Given the description of an element on the screen output the (x, y) to click on. 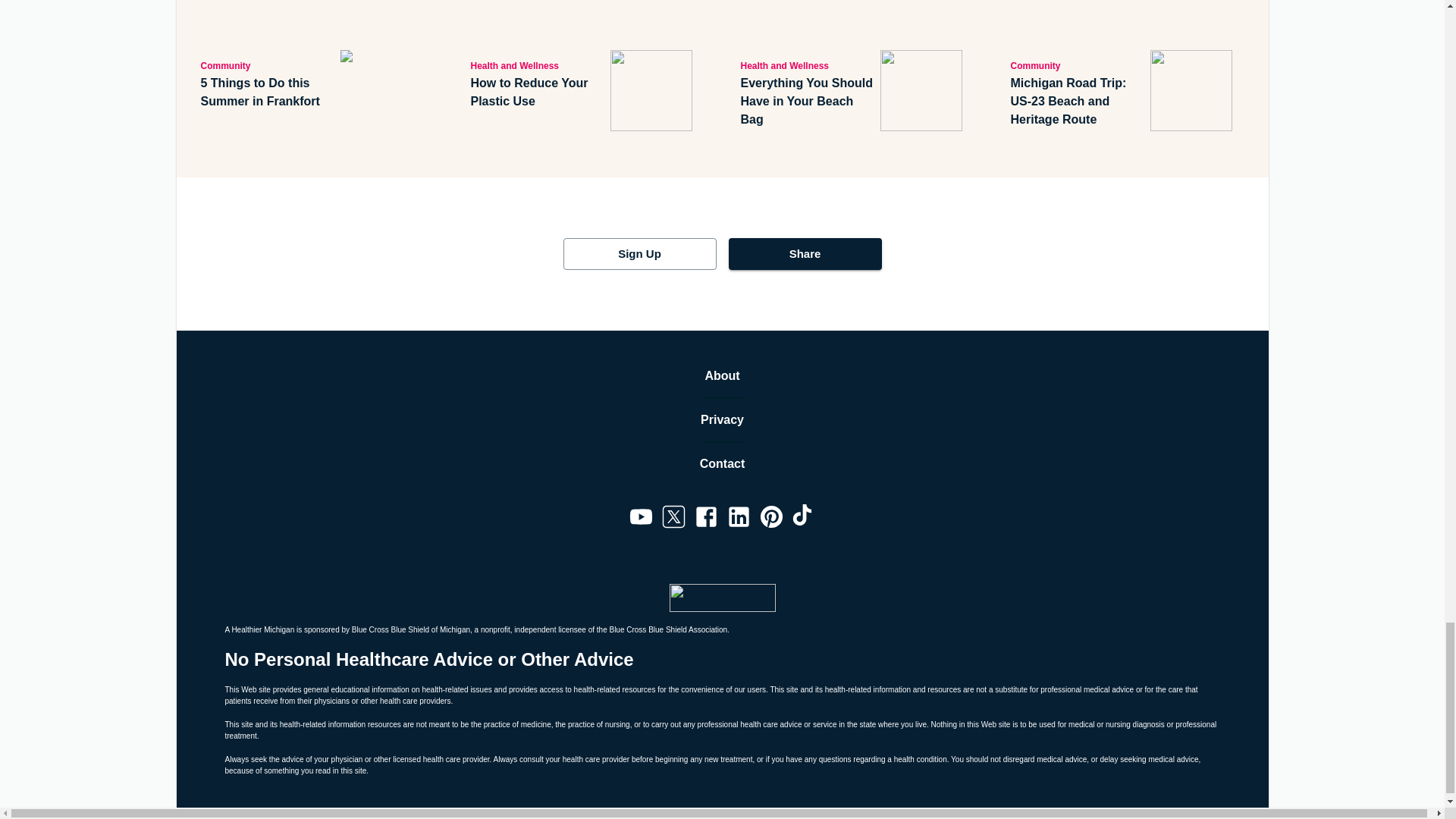
How to Reduce Your Plastic Use (537, 92)
Community (267, 65)
5 Things to Do this Summer in Frankfort  (267, 92)
About (721, 375)
Everything You Should Have in Your Beach Bag (807, 101)
Health and Wellness (807, 65)
Privacy (722, 420)
Share (804, 254)
Sign Up (639, 254)
Community (1077, 65)
Contact (722, 464)
Michigan Road Trip: US-23 Beach and Heritage Route (1077, 101)
Health and Wellness (537, 65)
